Given the description of an element on the screen output the (x, y) to click on. 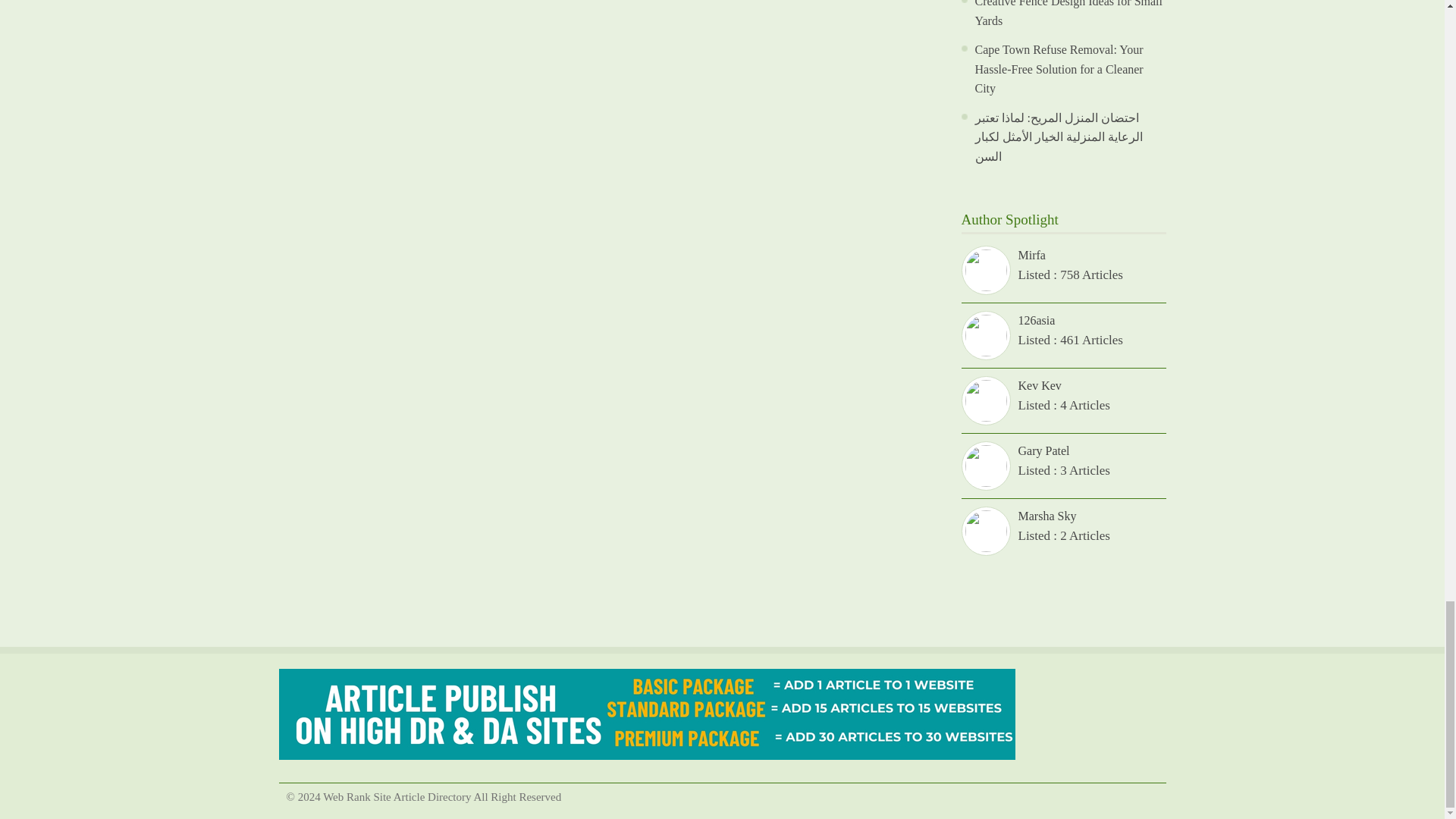
Creative Fence Design Ideas for Small Yards (1068, 13)
